Given the description of an element on the screen output the (x, y) to click on. 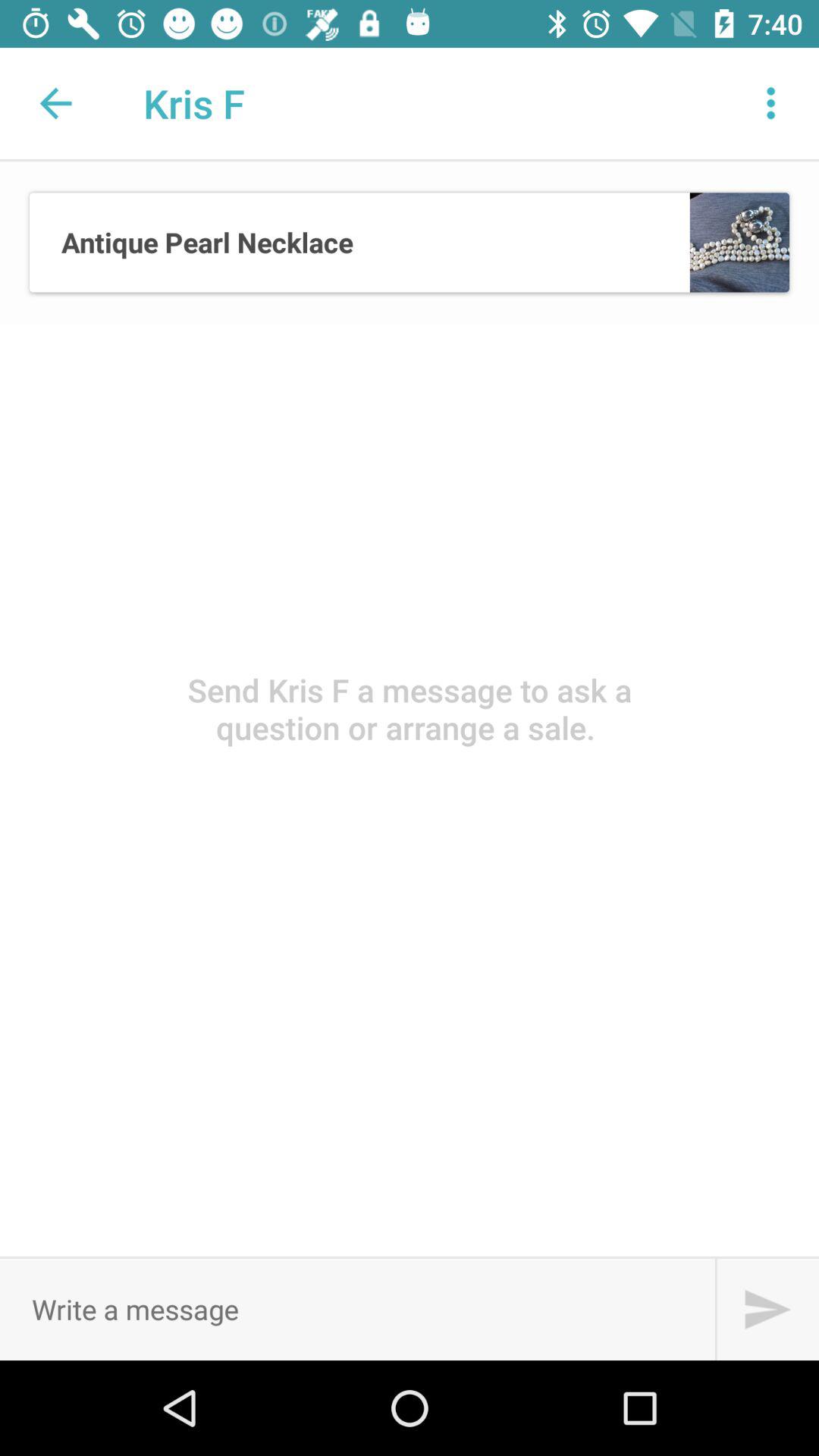
it can be used to open options menu (771, 103)
